Given the description of an element on the screen output the (x, y) to click on. 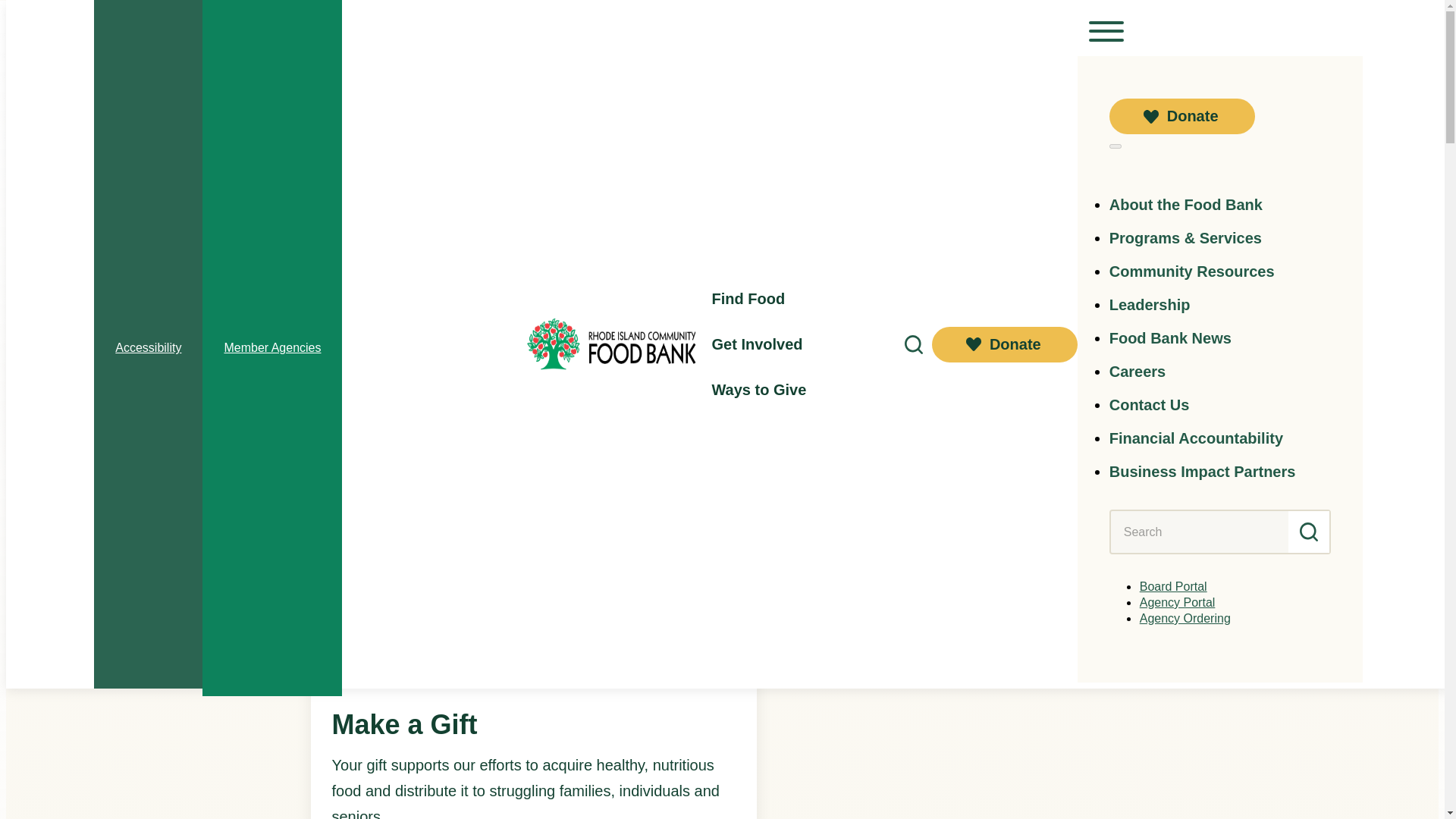
Donate (1182, 116)
Community Resources (1192, 271)
Search (1308, 531)
Ways to Give (758, 389)
About the Food Bank (1185, 204)
Careers (1137, 370)
Contact Us (1149, 404)
Search (1308, 531)
Search for: (1199, 531)
Get Involved (756, 344)
Agency Portal (1177, 602)
Menu (1106, 30)
Contact Us (1149, 404)
Careers (1137, 370)
